Given the description of an element on the screen output the (x, y) to click on. 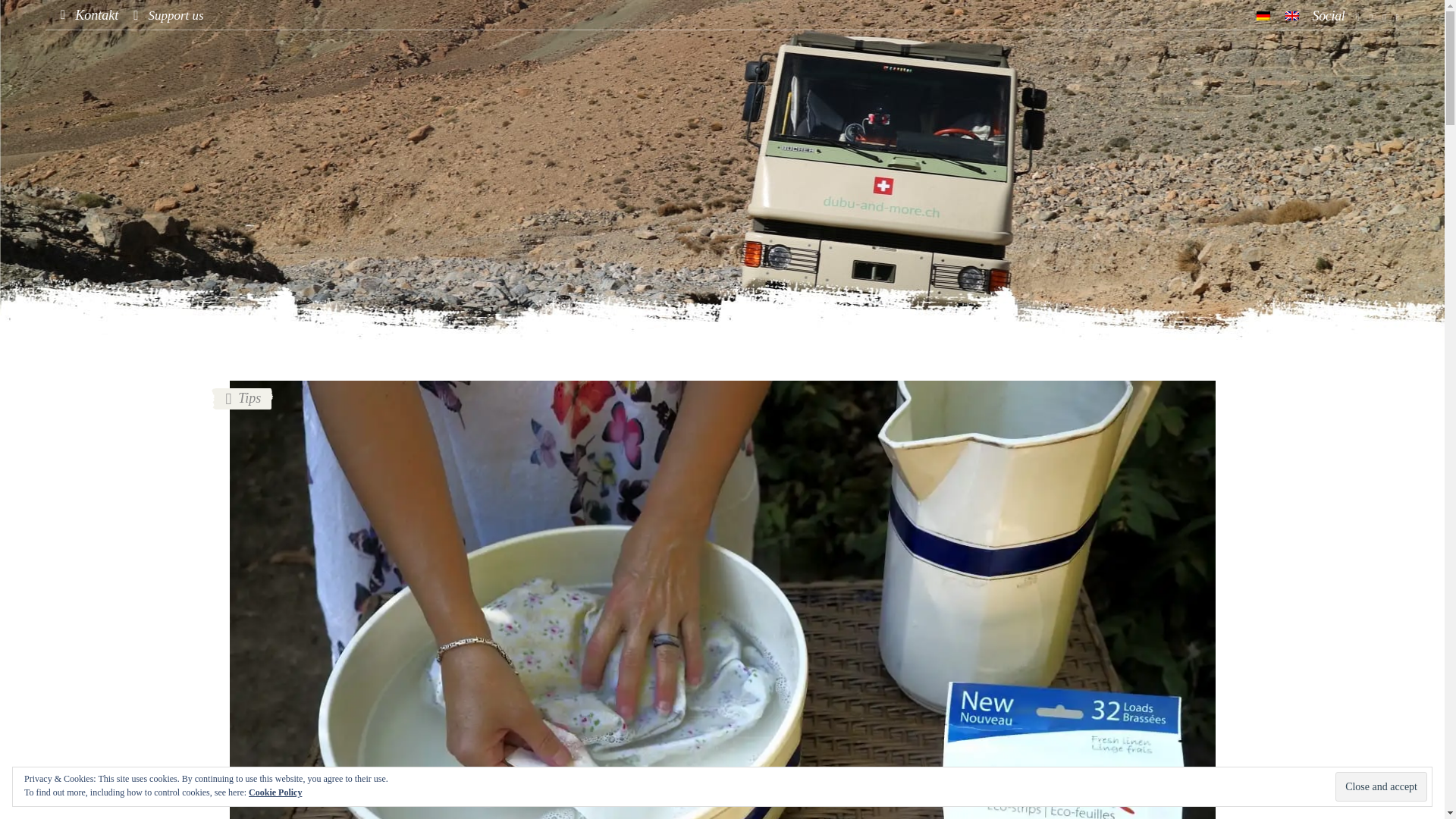
Kontakt (89, 15)
Support us (168, 15)
Close and accept (1380, 786)
